Given the description of an element on the screen output the (x, y) to click on. 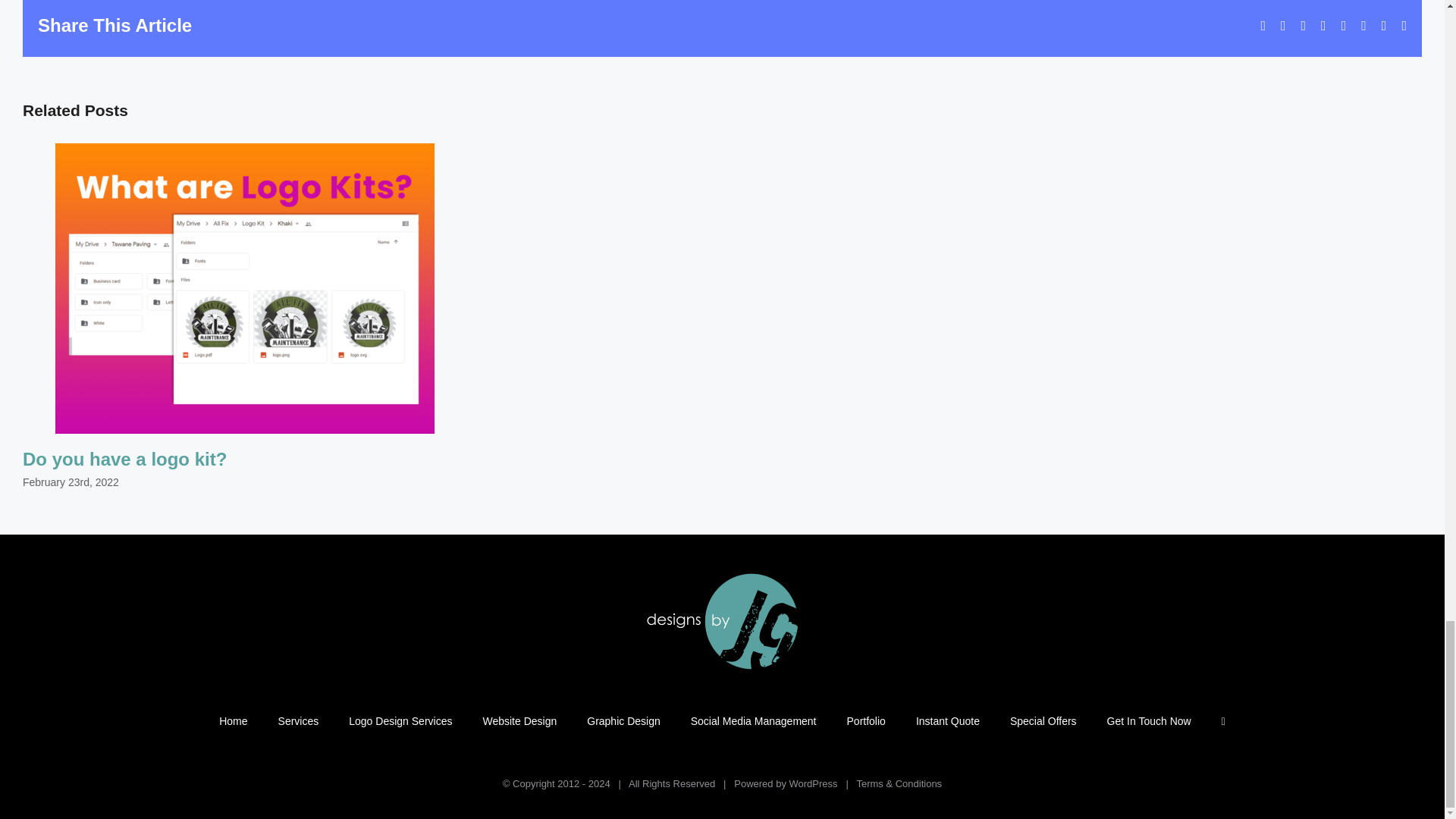
Do you have a logo kit? (125, 458)
